Given the description of an element on the screen output the (x, y) to click on. 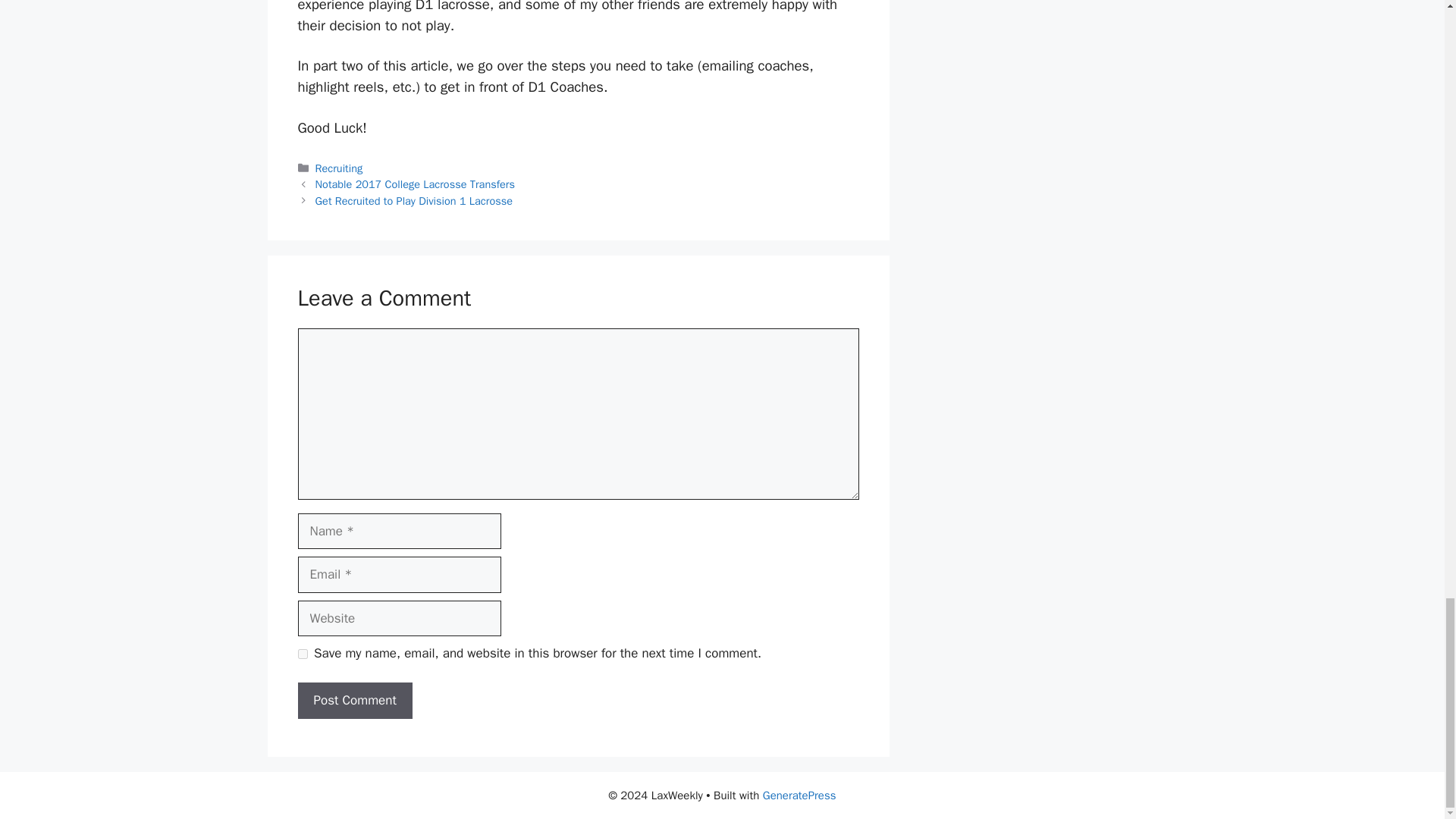
yes (302, 654)
Recruiting (338, 168)
GeneratePress (798, 795)
Post Comment (354, 700)
Get Recruited to Play Division 1 Lacrosse (413, 201)
Post Comment (354, 700)
Notable 2017 College Lacrosse Transfers (415, 183)
